Given the description of an element on the screen output the (x, y) to click on. 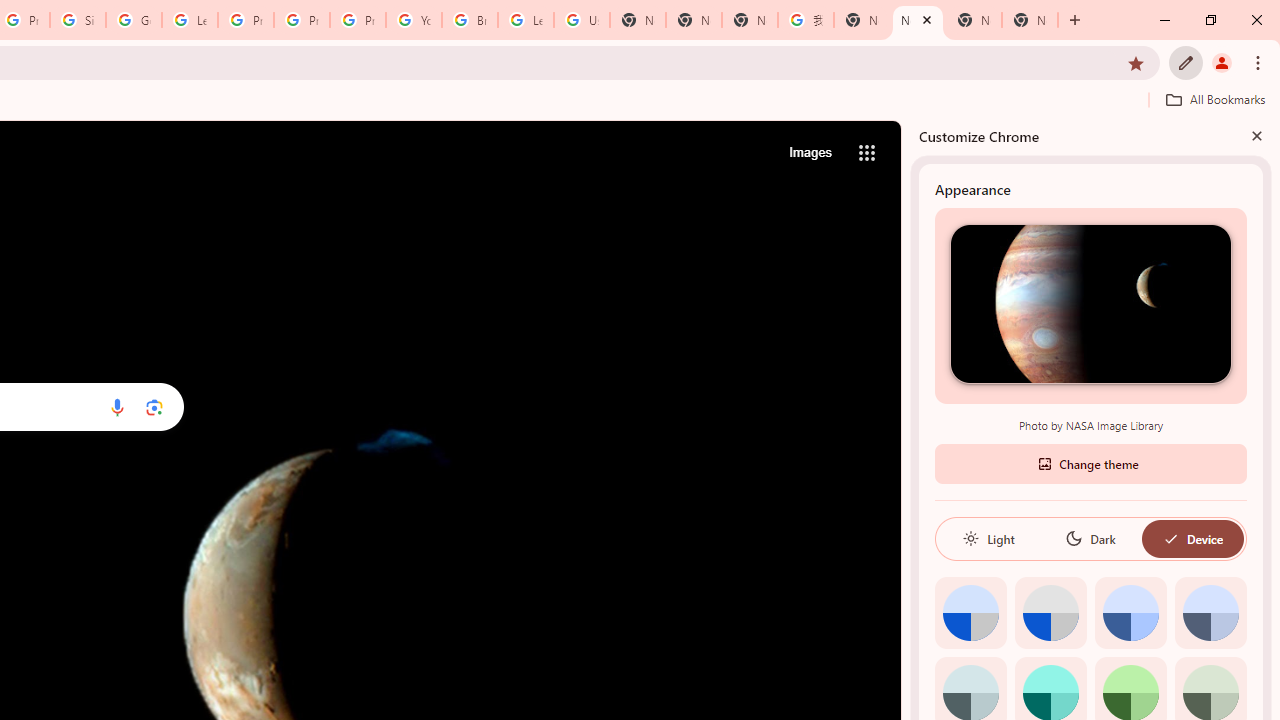
AutomationID: baseSvg (1170, 538)
Photo by NASA Image Library (1090, 303)
Dark (1090, 538)
Light (988, 538)
YouTube (413, 20)
Blue (1130, 612)
Cool grey (1210, 612)
